Given the description of an element on the screen output the (x, y) to click on. 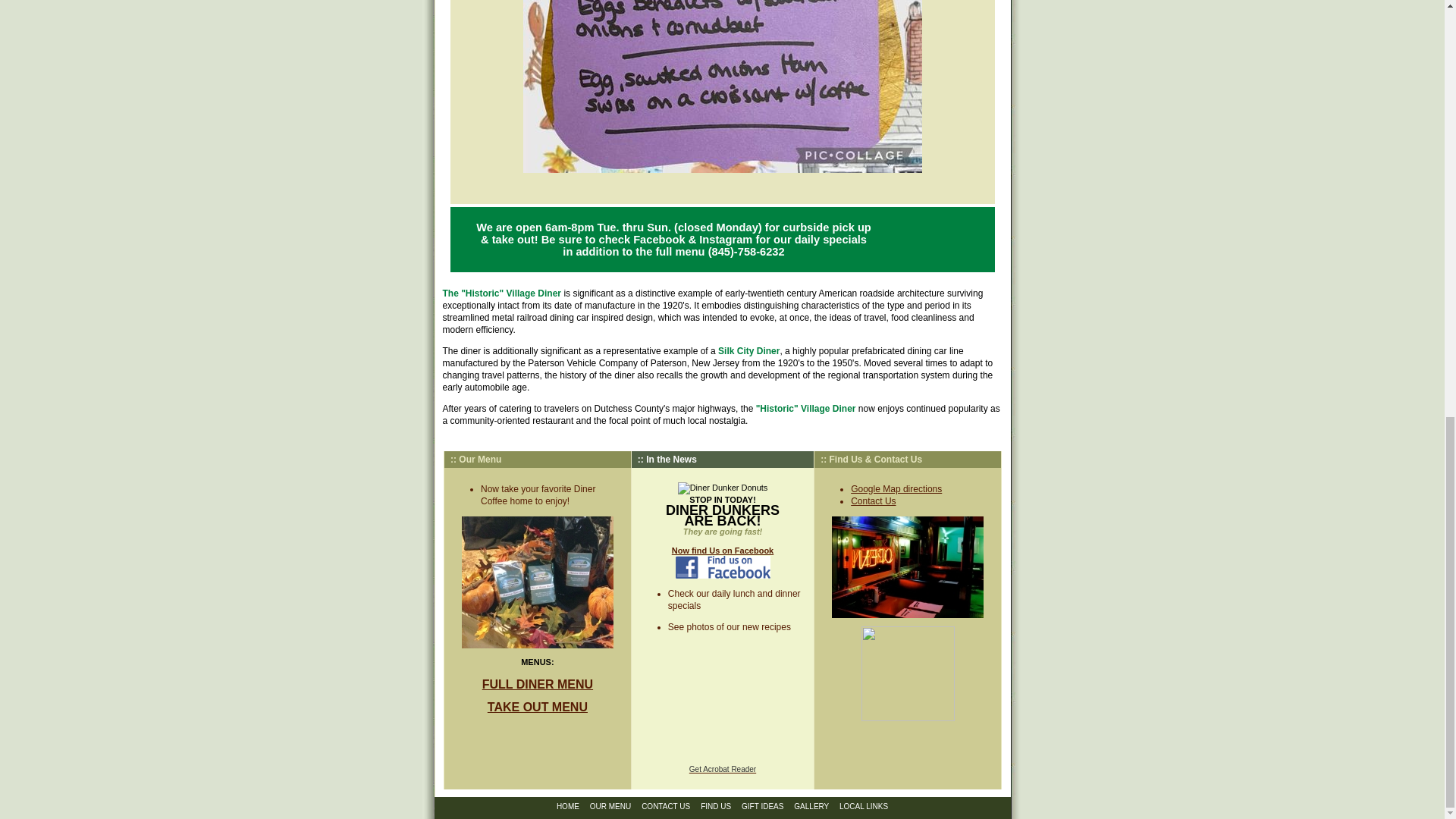
LOCAL LINKS (864, 806)
Get Acrobat Reader (721, 768)
Now find Us on Facebook (722, 562)
GALLERY (810, 806)
Google Map directions (896, 489)
HOME (567, 806)
OUR MENU (609, 806)
FIND US (715, 806)
FULL DINER MENU (536, 684)
TAKE OUT MENU (537, 707)
Contact Us (872, 501)
CONTACT US (666, 806)
GIFT IDEAS (762, 806)
